Given the description of an element on the screen output the (x, y) to click on. 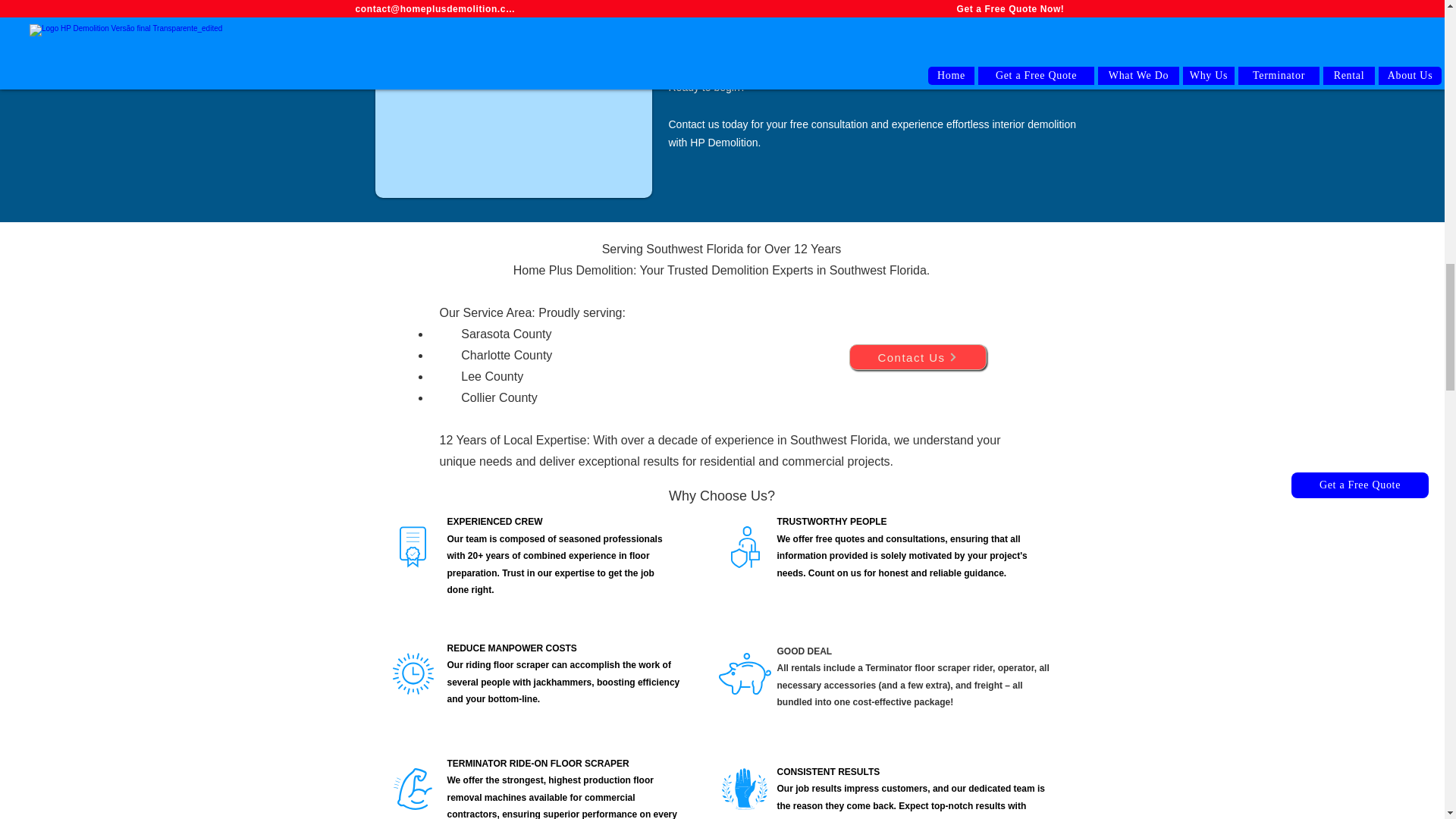
Contact Us (917, 356)
HOME PLUS DEMOLITION LOGO (146, 701)
